Given the description of an element on the screen output the (x, y) to click on. 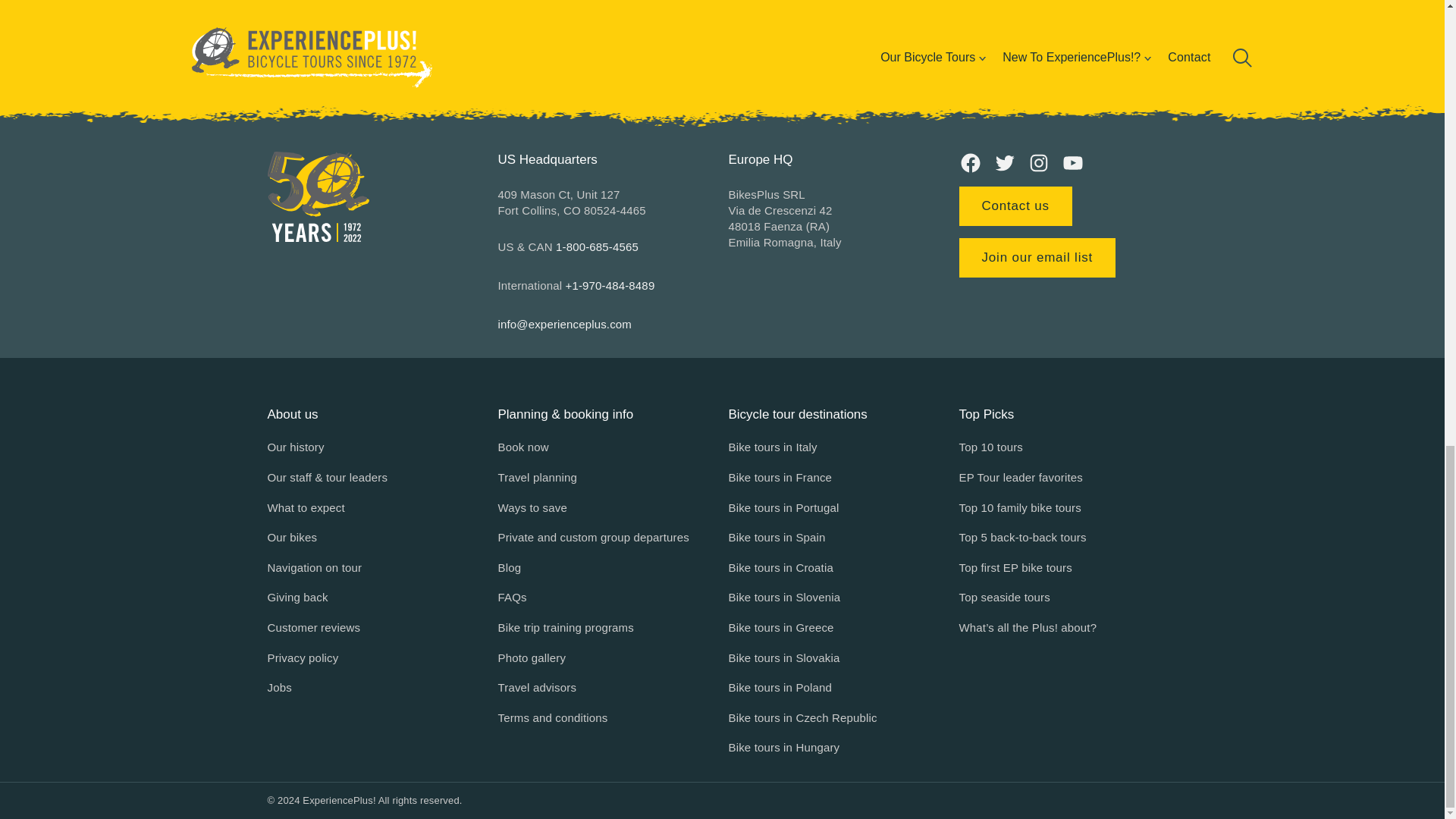
Customer reviews (312, 628)
Our history (294, 447)
Jobs (278, 687)
1-800-685-4565 (597, 246)
Our bikes (291, 537)
Facebook (969, 162)
What to expect (304, 507)
Specs (721, 18)
Giving back (296, 597)
Contact us (1014, 206)
Navigation on tour (313, 567)
Join our email list (1036, 257)
YouTube (1072, 162)
Book now (522, 447)
Twitter (1004, 162)
